Given the description of an element on the screen output the (x, y) to click on. 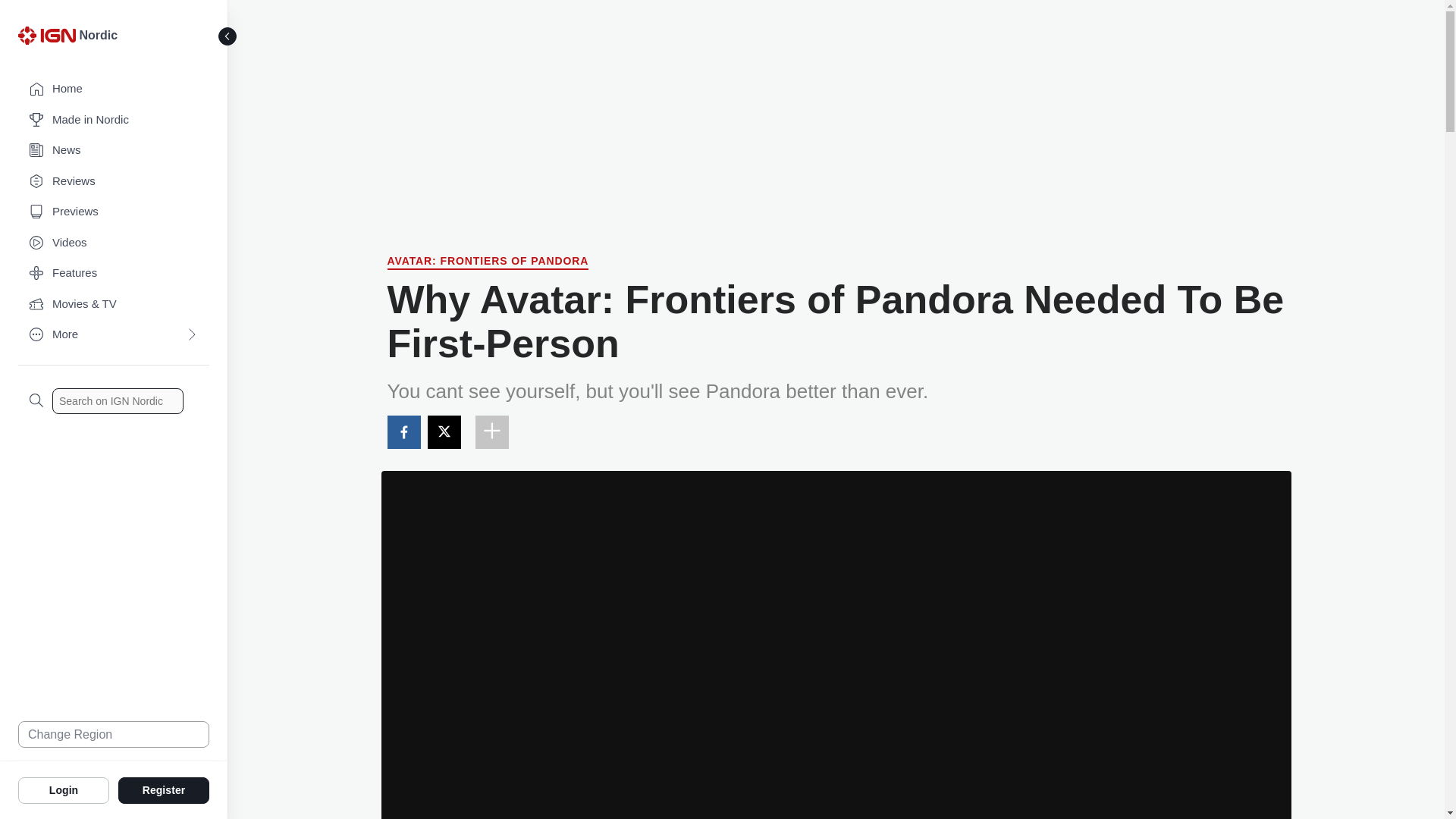
IGN Logo (46, 34)
Videos (113, 242)
Previews (113, 211)
News (113, 150)
IGN Logo (48, 39)
Register (163, 789)
Home (113, 89)
Made in Nordic (113, 119)
AVATAR: FRONTIERS OF PANDORA (487, 262)
More (113, 334)
